Given the description of an element on the screen output the (x, y) to click on. 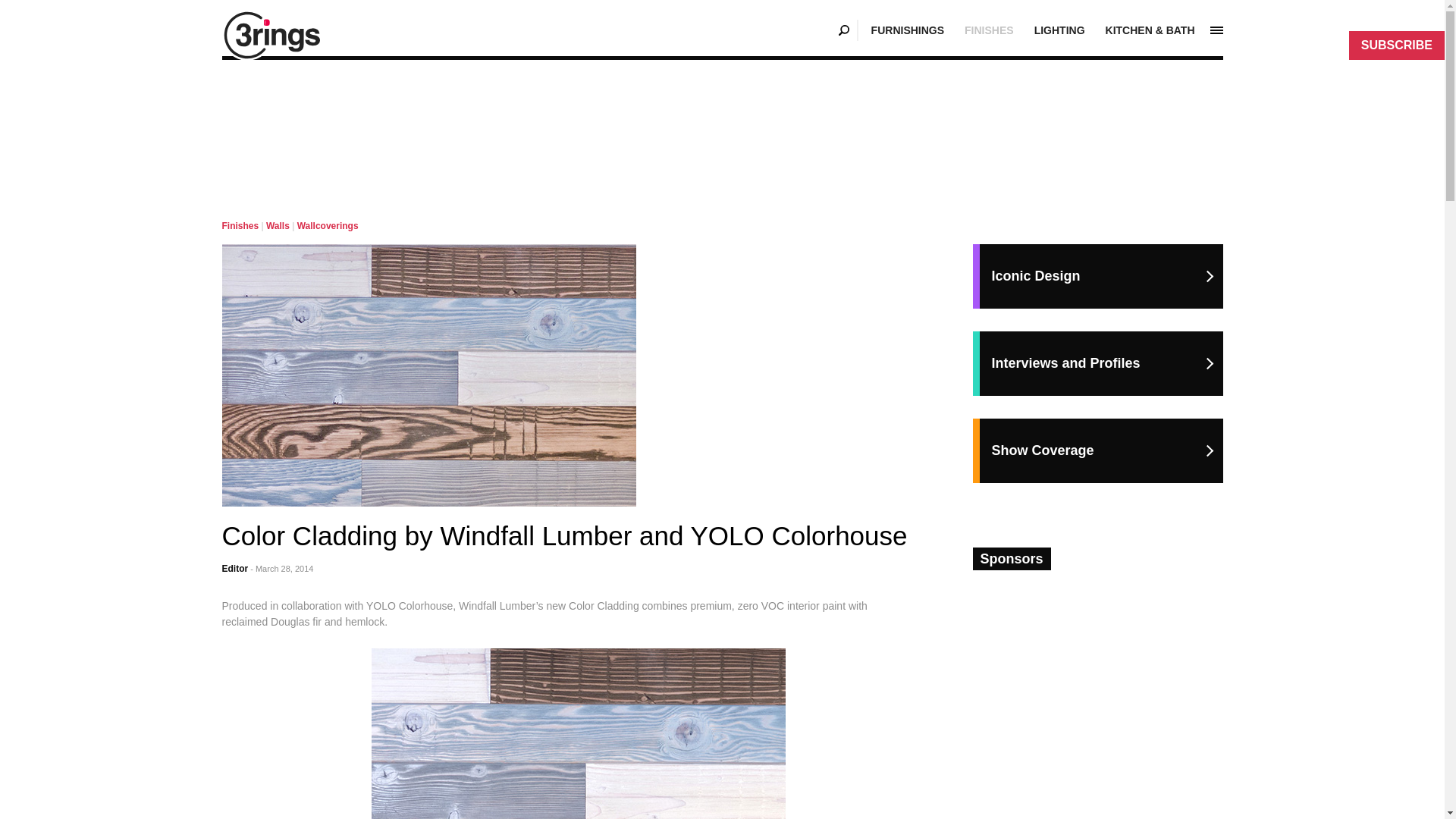
FINISHES (988, 30)
LIGHTING (1058, 30)
Go to the Wallcoverings category archives. (327, 225)
Furnishings (906, 30)
Wallcoverings (327, 225)
3rd party ad content (722, 123)
Lighting (1058, 30)
Go to the Finishes category archives. (240, 225)
Color Cladding by Windfall Lumber and YOLO Colorhouse (427, 375)
Finishes (988, 30)
FURNISHINGS (906, 30)
Walls (277, 225)
Go to the Walls category archives. (277, 225)
Color Cladding by Windfall Lumber and YOLO Colorhouse (578, 733)
Finishes (240, 225)
